Given the description of an element on the screen output the (x, y) to click on. 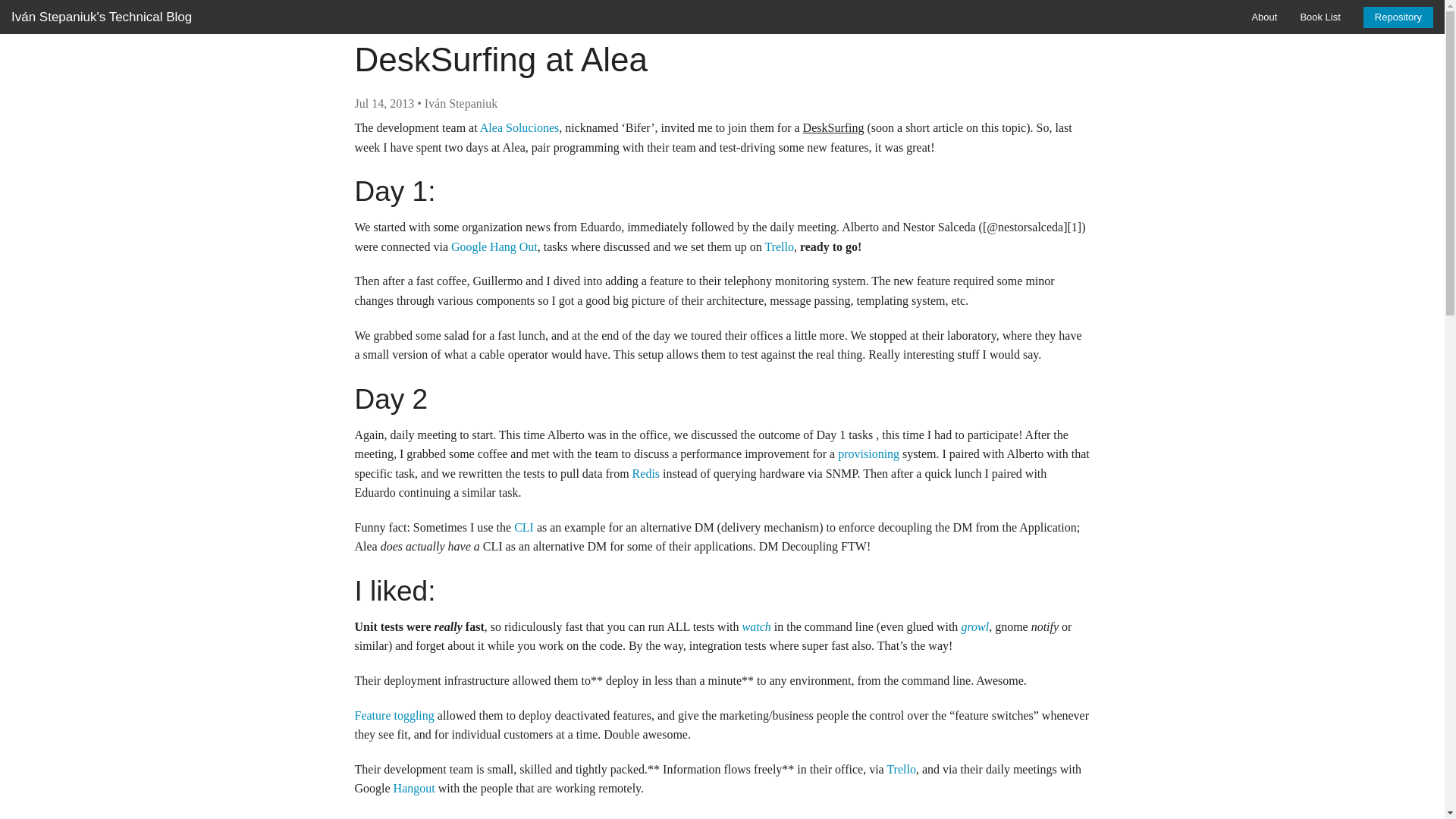
Redis (645, 472)
Alea Soluciones (519, 127)
provisioning (868, 453)
Trello (778, 246)
CLI (523, 526)
Book List (1319, 17)
About (1264, 17)
growl (974, 626)
watch (756, 626)
Hangout (414, 788)
